Given the description of an element on the screen output the (x, y) to click on. 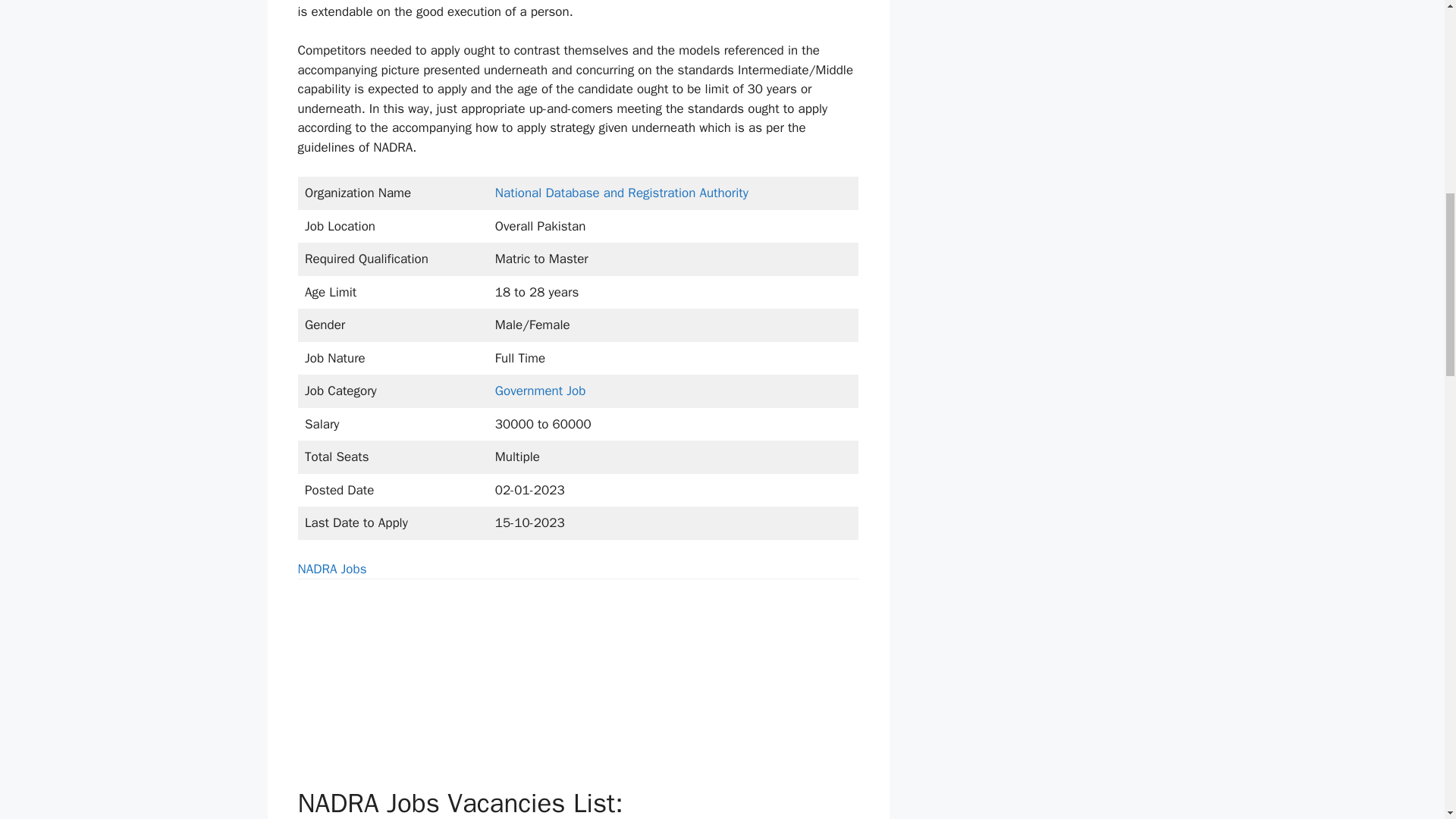
Government Job (540, 390)
NADRA Jobs (331, 569)
National Database and Registration Authority (621, 192)
